Given the description of an element on the screen output the (x, y) to click on. 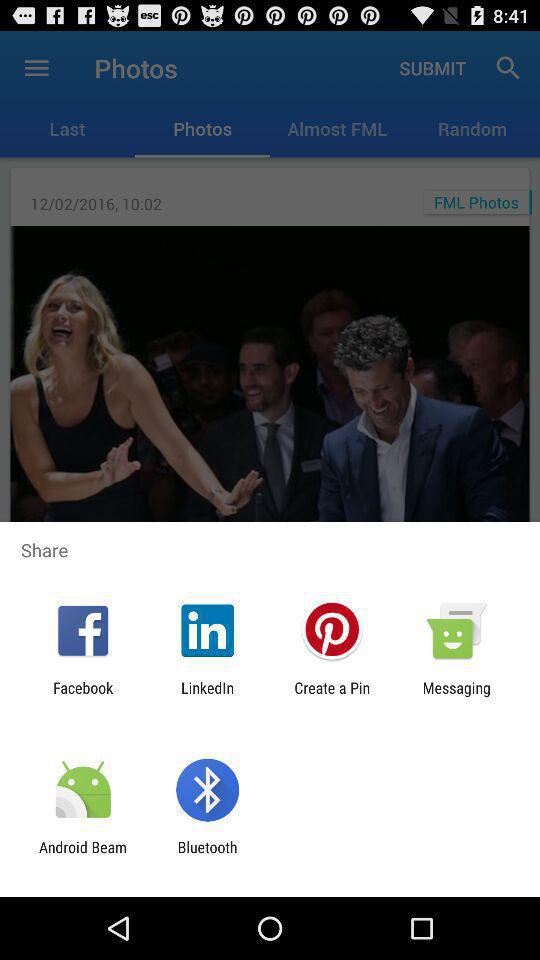
launch icon to the left of messaging app (332, 696)
